Given the description of an element on the screen output the (x, y) to click on. 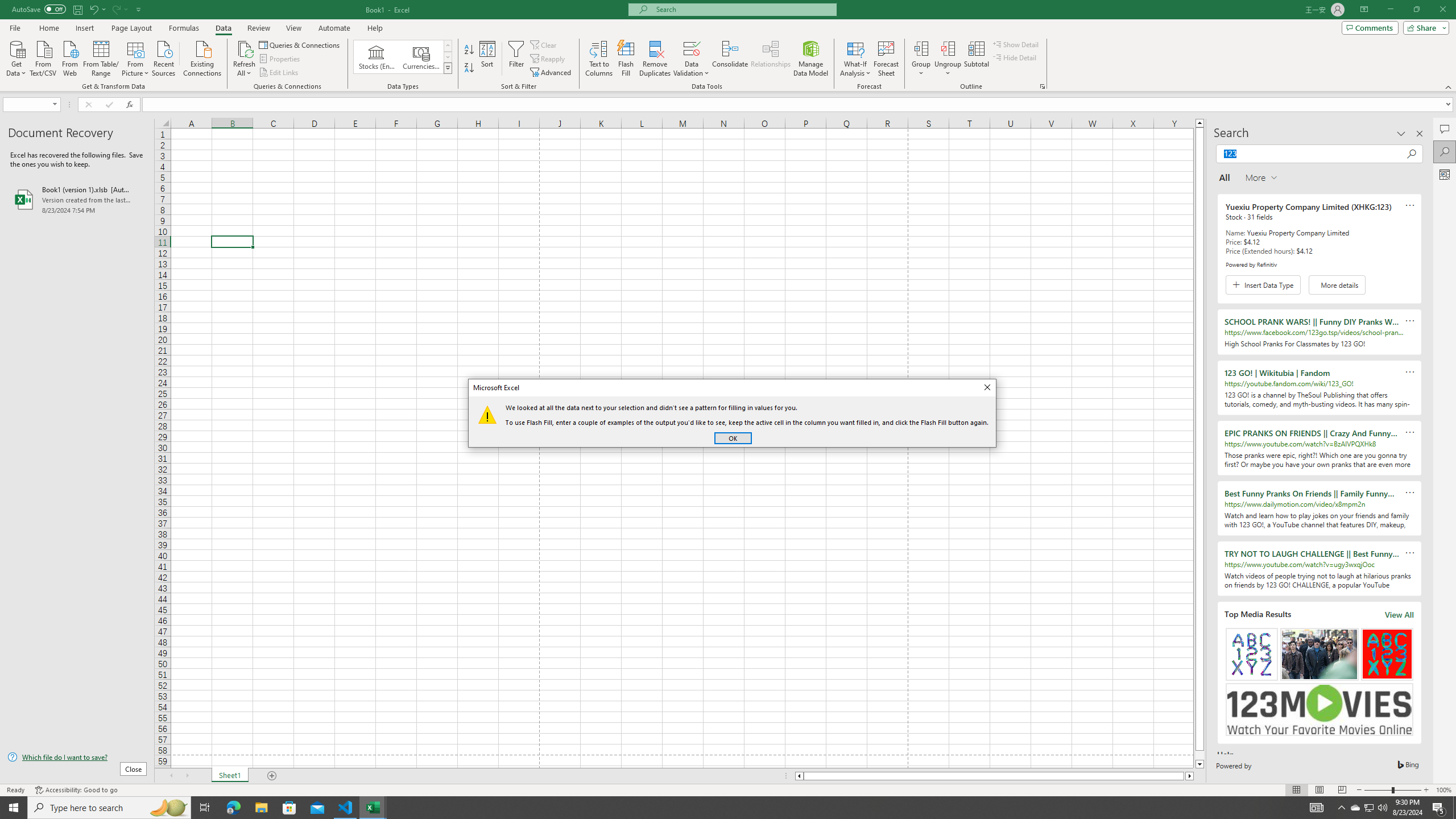
Sort Z to A (469, 67)
Start (13, 807)
Search highlights icon opens search home window (167, 807)
